Given the description of an element on the screen output the (x, y) to click on. 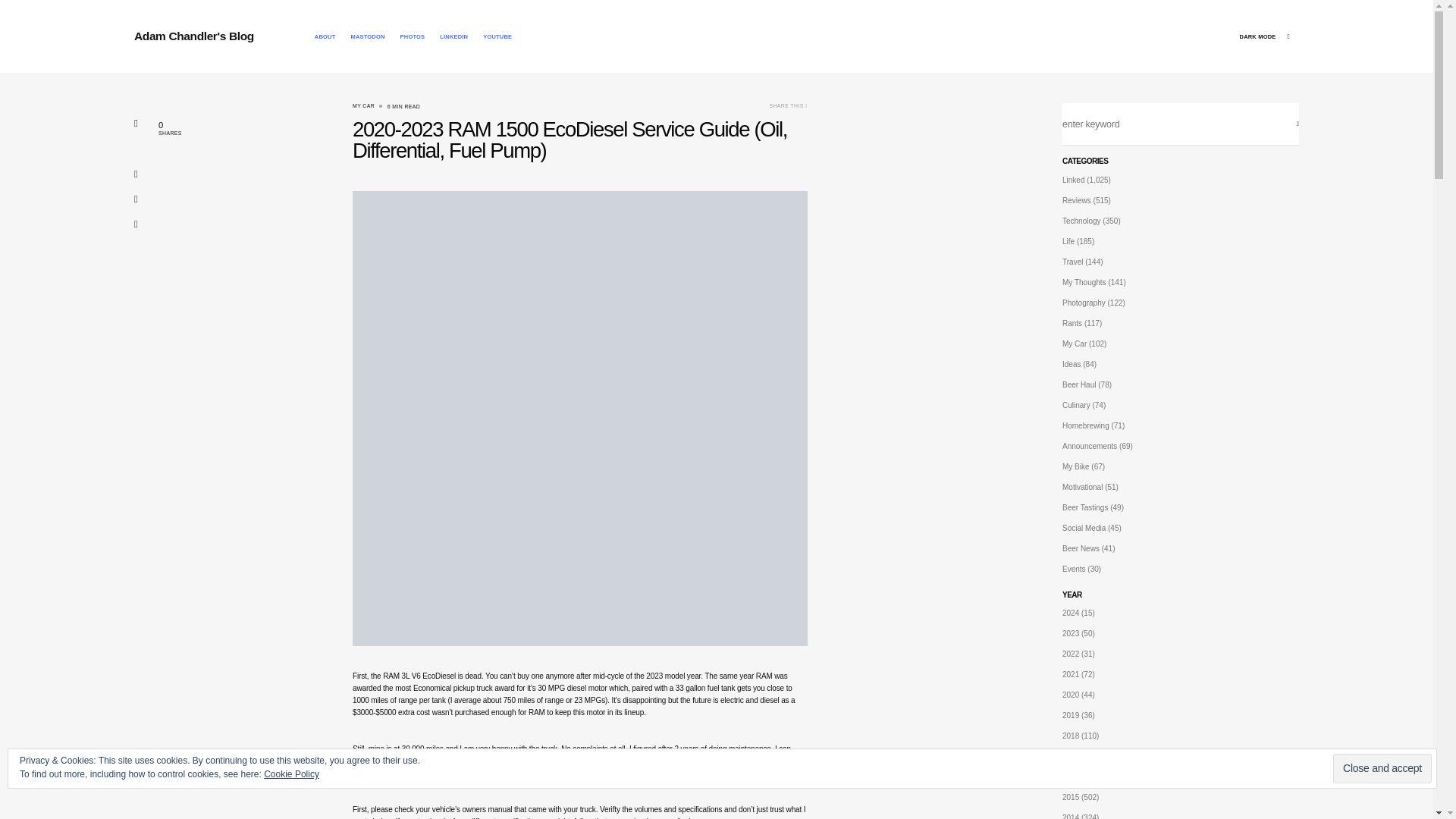
Close and accept (1382, 767)
Adam Chandler's Blog (193, 36)
